Given the description of an element on the screen output the (x, y) to click on. 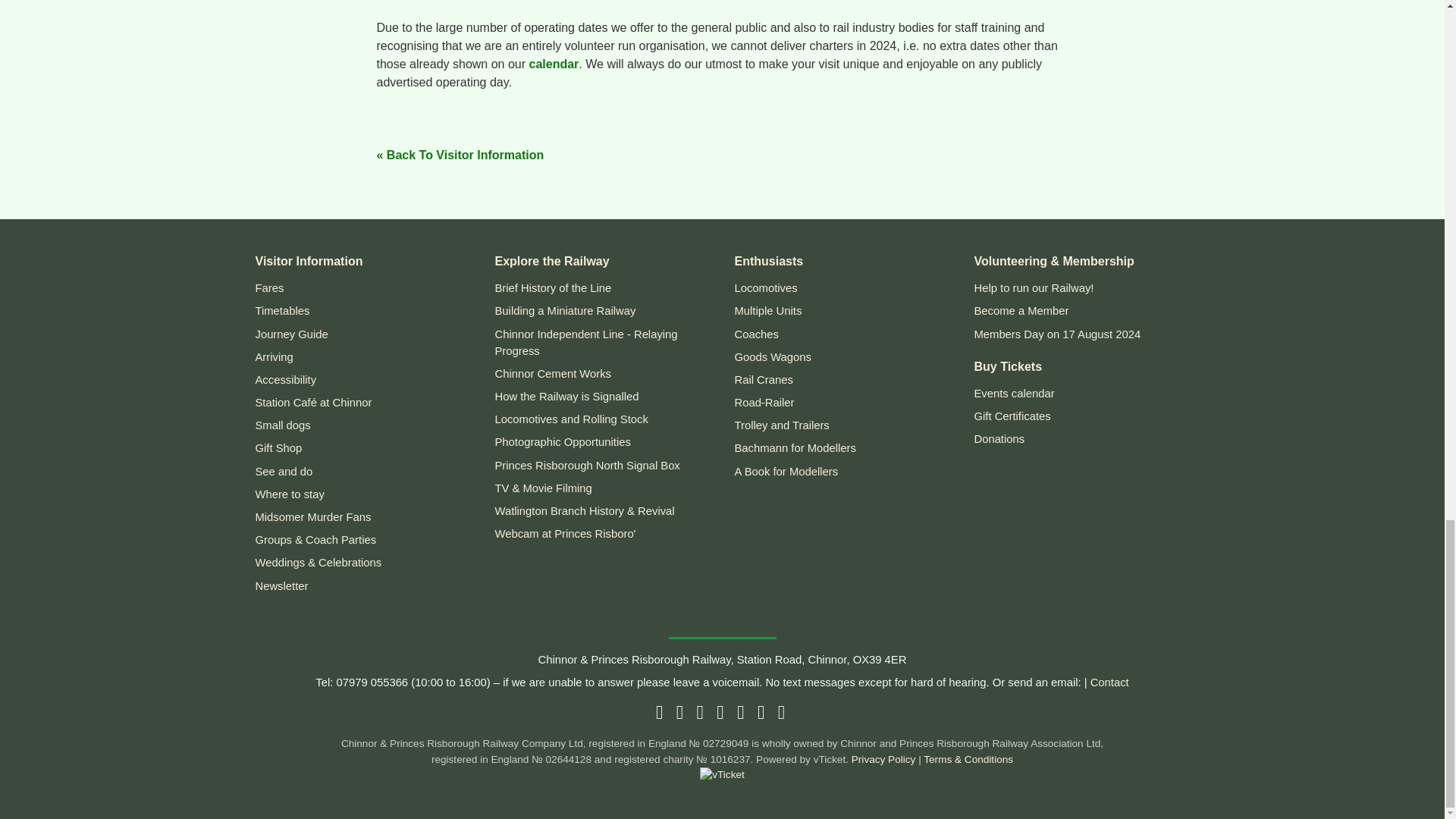
Newsletter (783, 714)
Youtube (742, 714)
Tripadvisor (661, 714)
Facebook (682, 714)
Twitter (700, 714)
Instagram (721, 714)
Flickr (762, 714)
